Given the description of an element on the screen output the (x, y) to click on. 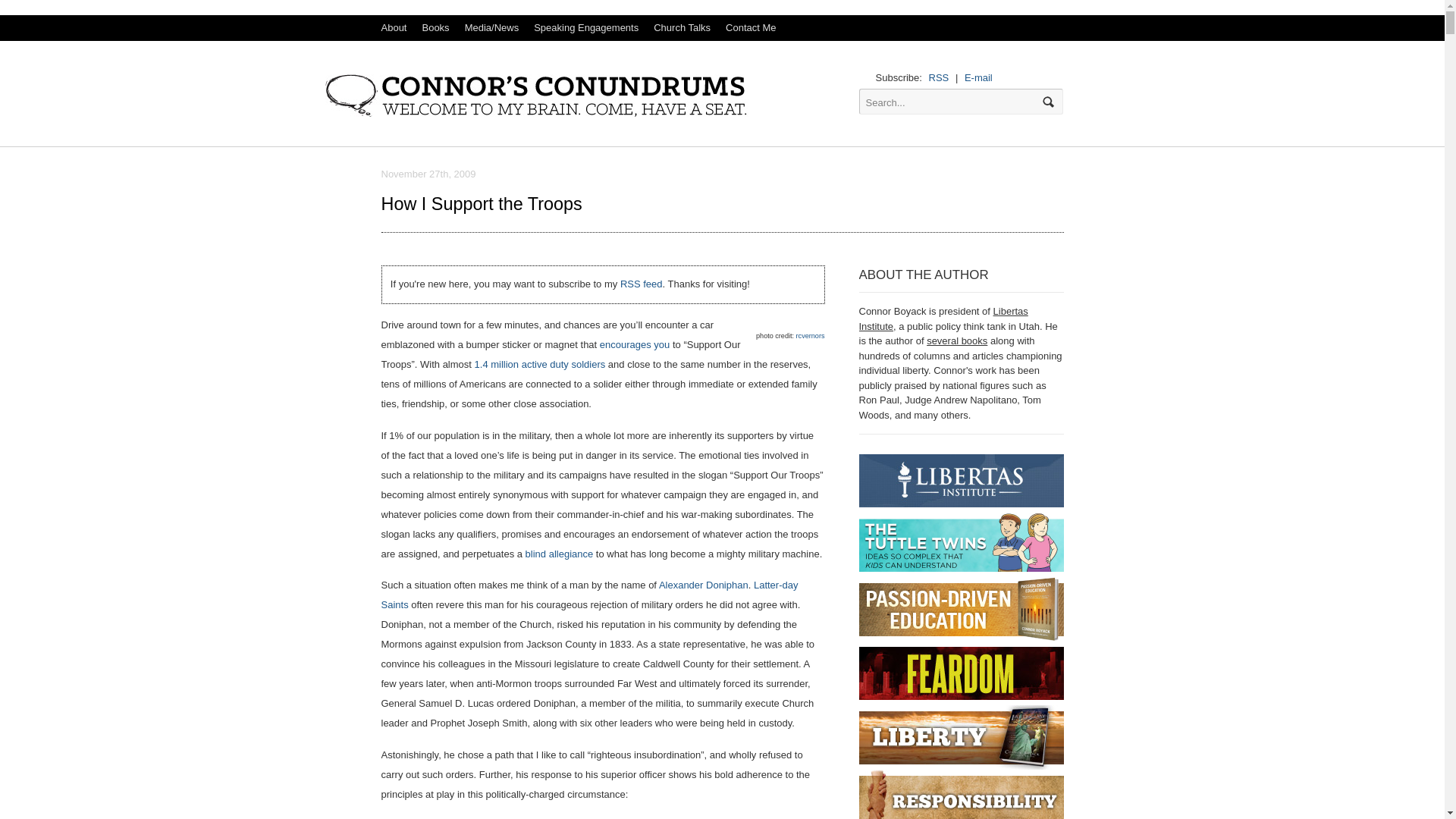
rcvernors (810, 335)
Contact Me (750, 27)
1.4 million active duty soldiers (539, 364)
Alexander Doniphan (703, 584)
About (392, 27)
Church Talks (681, 27)
E-mail (977, 76)
Search... (951, 101)
encourages you (634, 344)
RSS feed (641, 283)
Books (435, 27)
blind allegiance (559, 553)
Speaking Engagements (585, 27)
Latter-day Saints (588, 594)
RSS (938, 76)
